Given the description of an element on the screen output the (x, y) to click on. 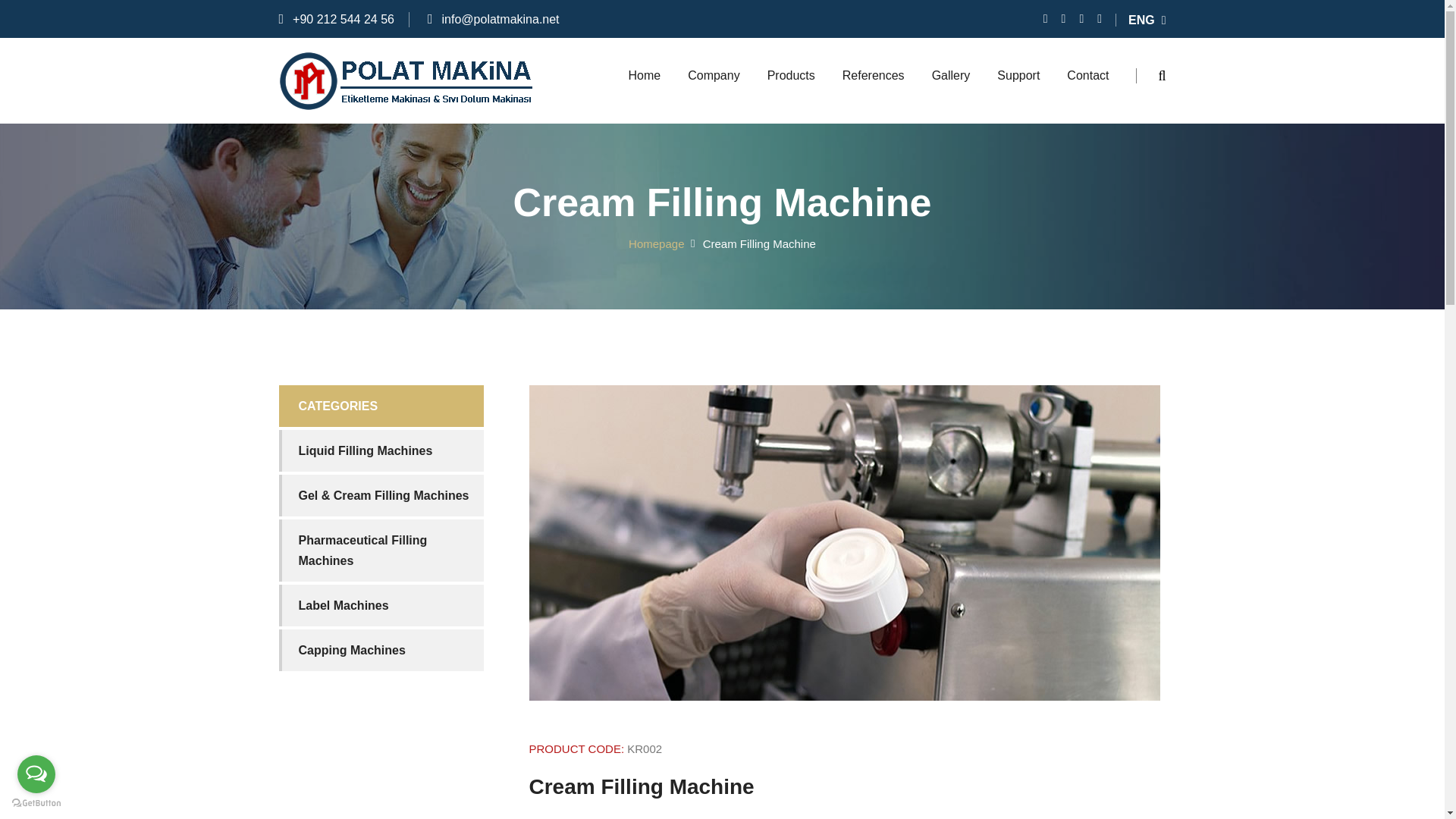
Label Machines (381, 605)
Homepage (656, 243)
References (873, 75)
Pharmaceutical Filling Machines (381, 550)
Company (713, 75)
Support (1018, 75)
Products (791, 75)
Contact (1087, 75)
Gallery (951, 75)
CATEGORIES (381, 405)
Liquid Filling Machines (381, 450)
Home (644, 75)
ENG   (1147, 20)
Capping Machines (381, 649)
